Given the description of an element on the screen output the (x, y) to click on. 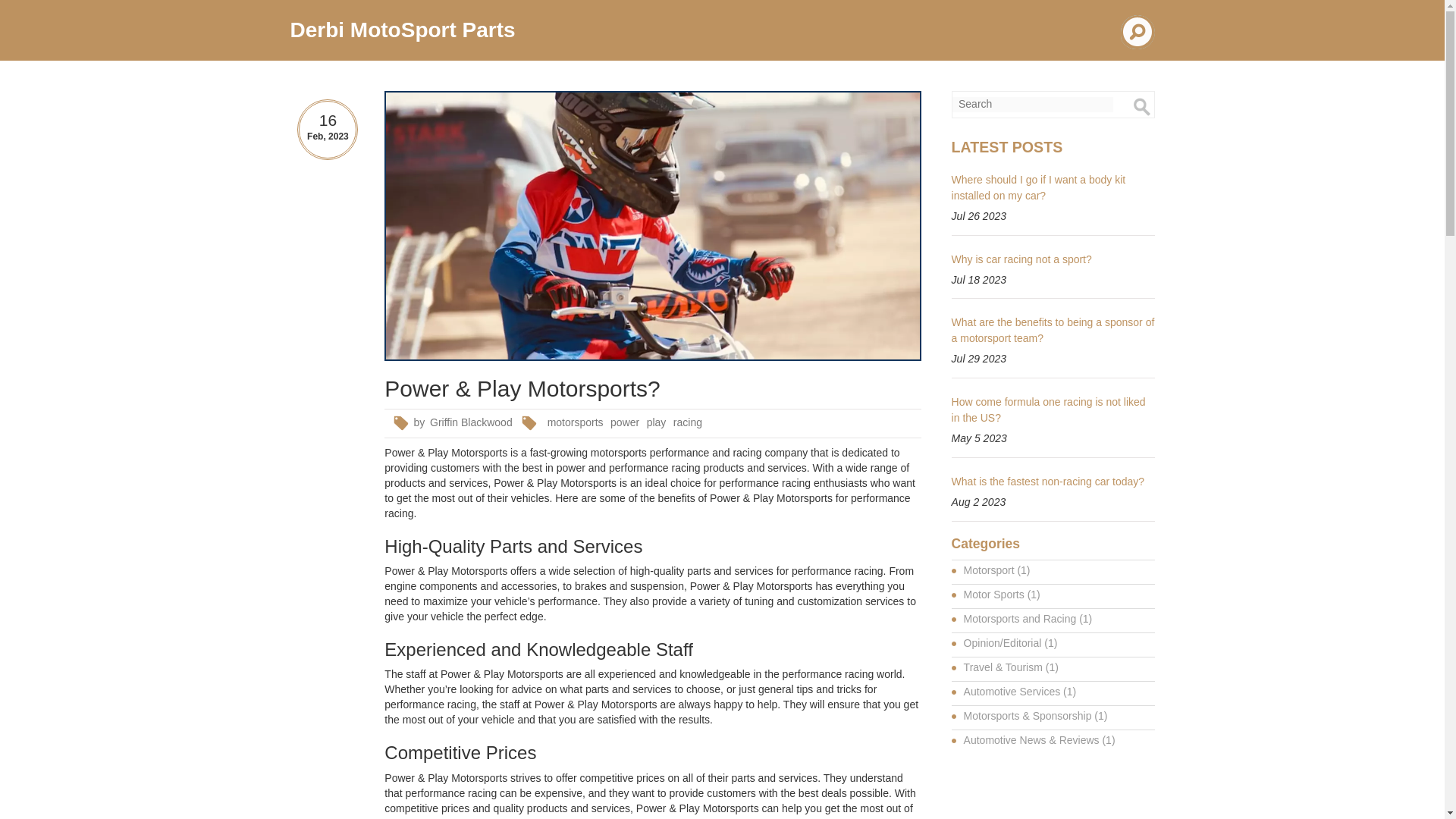
What is the fastest non-racing car today? (1048, 481)
Why is car racing not a sport? (1022, 259)
racing (687, 422)
Griffin Blackwood (470, 422)
power (625, 422)
Where should I go if I want a body kit installed on my car? (1038, 187)
Derbi MotoSport Parts (402, 29)
play (656, 422)
How come formula one racing is not liked in the US? (1048, 409)
motorsports (574, 422)
